Given the description of an element on the screen output the (x, y) to click on. 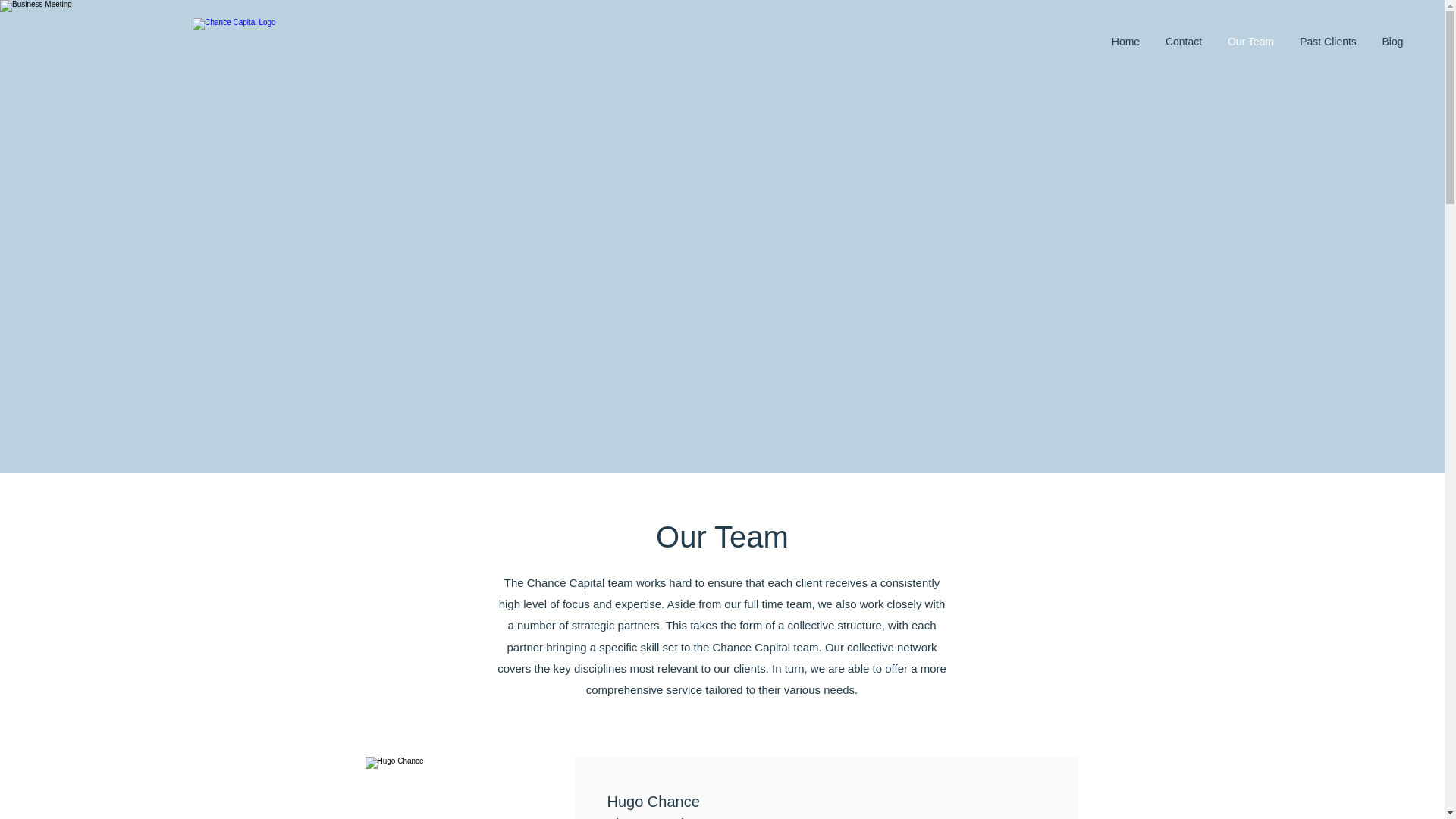
Blog (1392, 41)
Home (1126, 41)
Our Team (1250, 41)
Past Clients (1328, 41)
Contact (1183, 41)
